Given the description of an element on the screen output the (x, y) to click on. 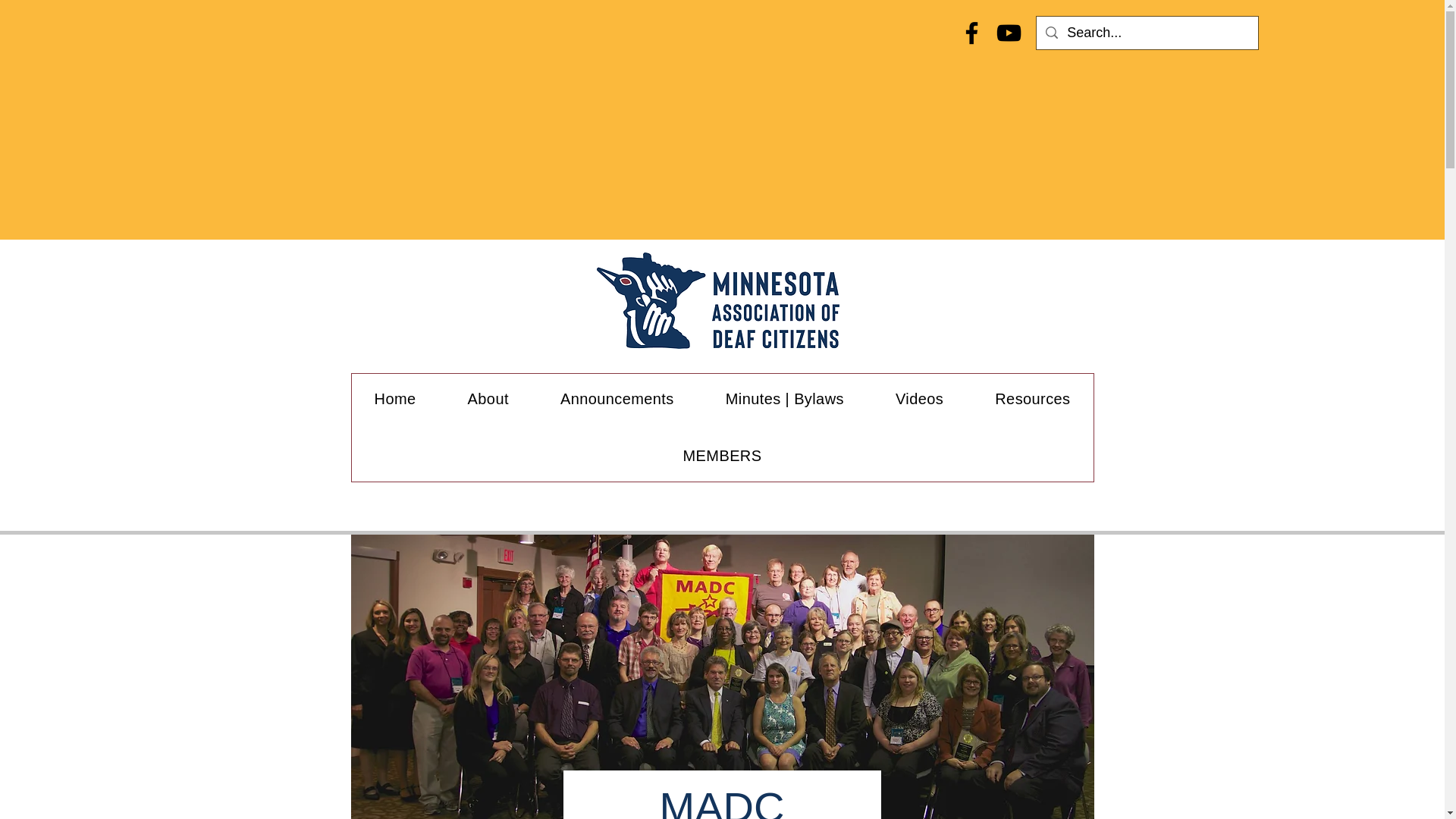
MEMBERS (722, 455)
Announcements (617, 399)
Resources (1032, 399)
Videos (919, 399)
Home (395, 399)
About (488, 399)
